Given the description of an element on the screen output the (x, y) to click on. 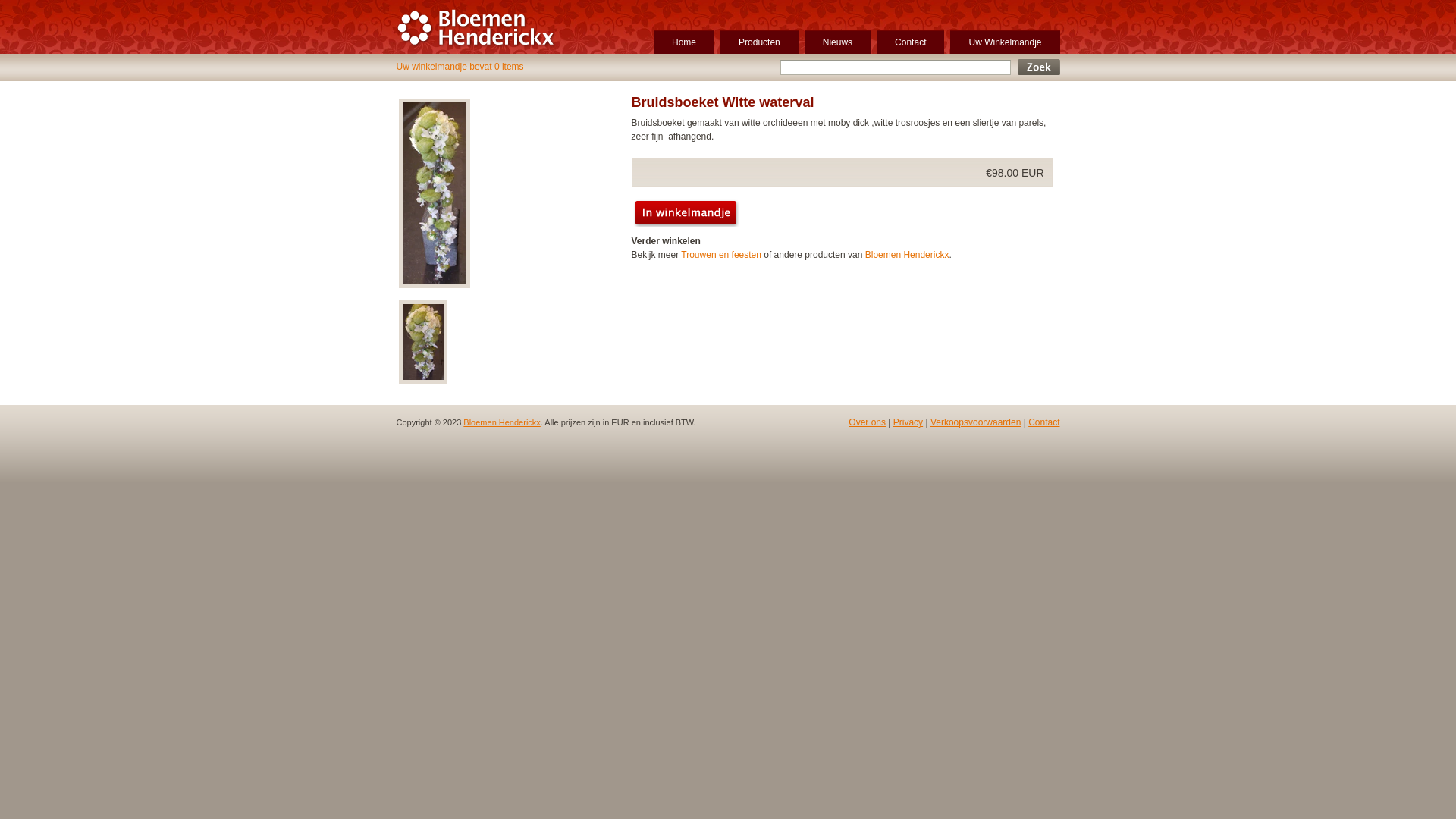
Verkoopsvoorwaarden Element type: text (975, 422)
Nieuws Element type: text (837, 41)
Producten Element type: text (759, 41)
Uw Winkelmandje Element type: text (1004, 41)
Home Element type: text (683, 41)
Bruidsboeket Witte waterval Element type: hover (421, 382)
Bloemen Henderickx Element type: text (907, 254)
Uw winkelmandje bevat 0 items Element type: text (459, 66)
Bloemen Henderickx Element type: text (501, 421)
Trouwen en feesten Element type: text (721, 254)
Bloemen Henderickx Element type: hover (478, 41)
Seek Element type: text (1038, 67)
Contact Element type: text (910, 41)
Privacy Element type: text (907, 422)
Bruidsboeket Witte waterval Element type: hover (433, 287)
Over ons Element type: text (866, 422)
Contact Element type: text (1043, 422)
